Given the description of an element on the screen output the (x, y) to click on. 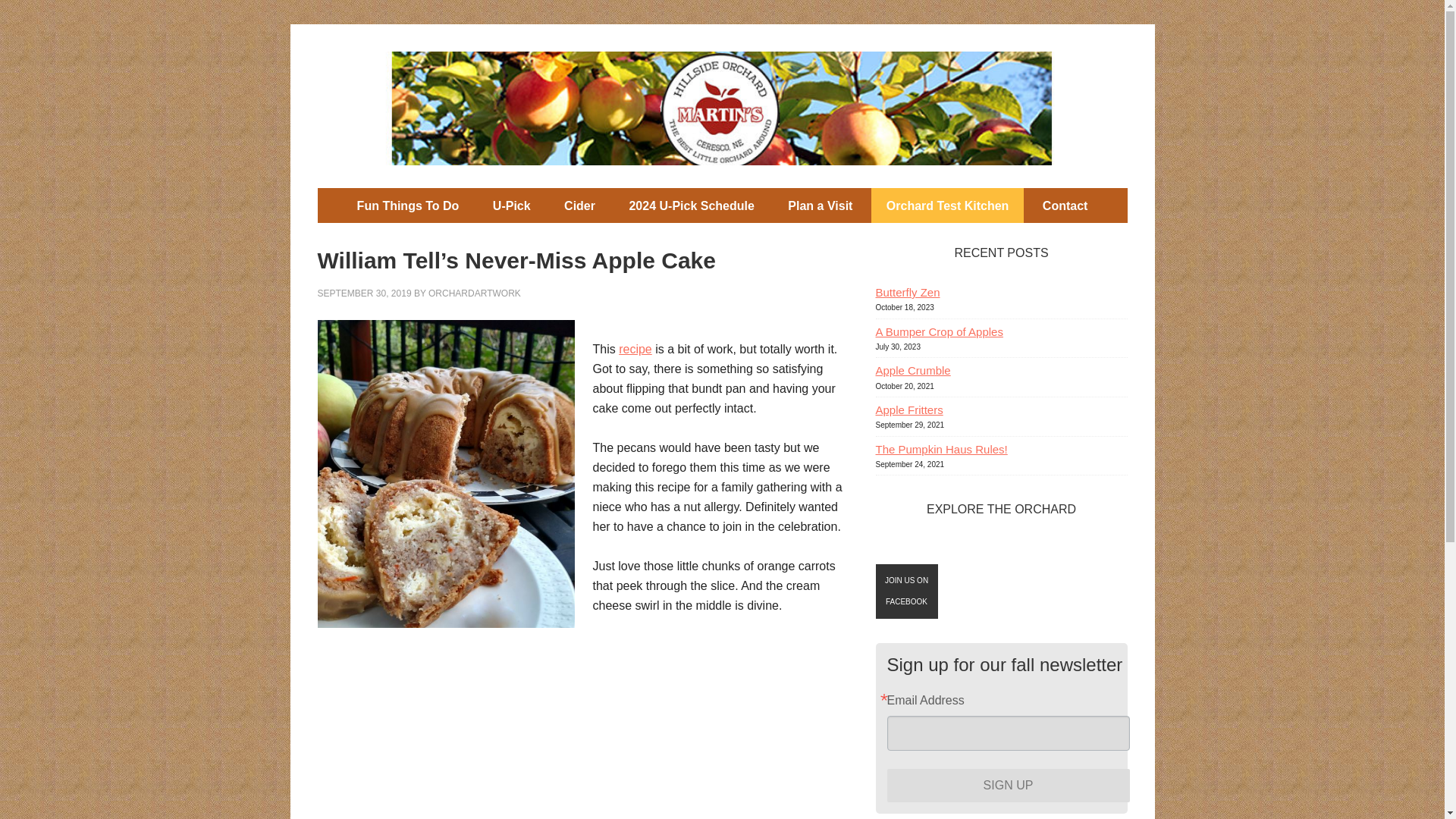
Plan a Visit (820, 205)
recipe (635, 349)
The Pumpkin Haus Rules! (941, 449)
JOIN US ON FACEBOOK (906, 591)
Orchard Test Kitchen (947, 205)
Contact (1065, 205)
Apple Crumble (912, 369)
SIGN UP (1007, 785)
Fun Things To Do (408, 205)
U-Pick (511, 205)
ORCHARDARTWORK (474, 293)
Apple Fritters (908, 409)
Butterfly Zen (907, 291)
2024 U-Pick Schedule (690, 205)
Cider (579, 205)
